Given the description of an element on the screen output the (x, y) to click on. 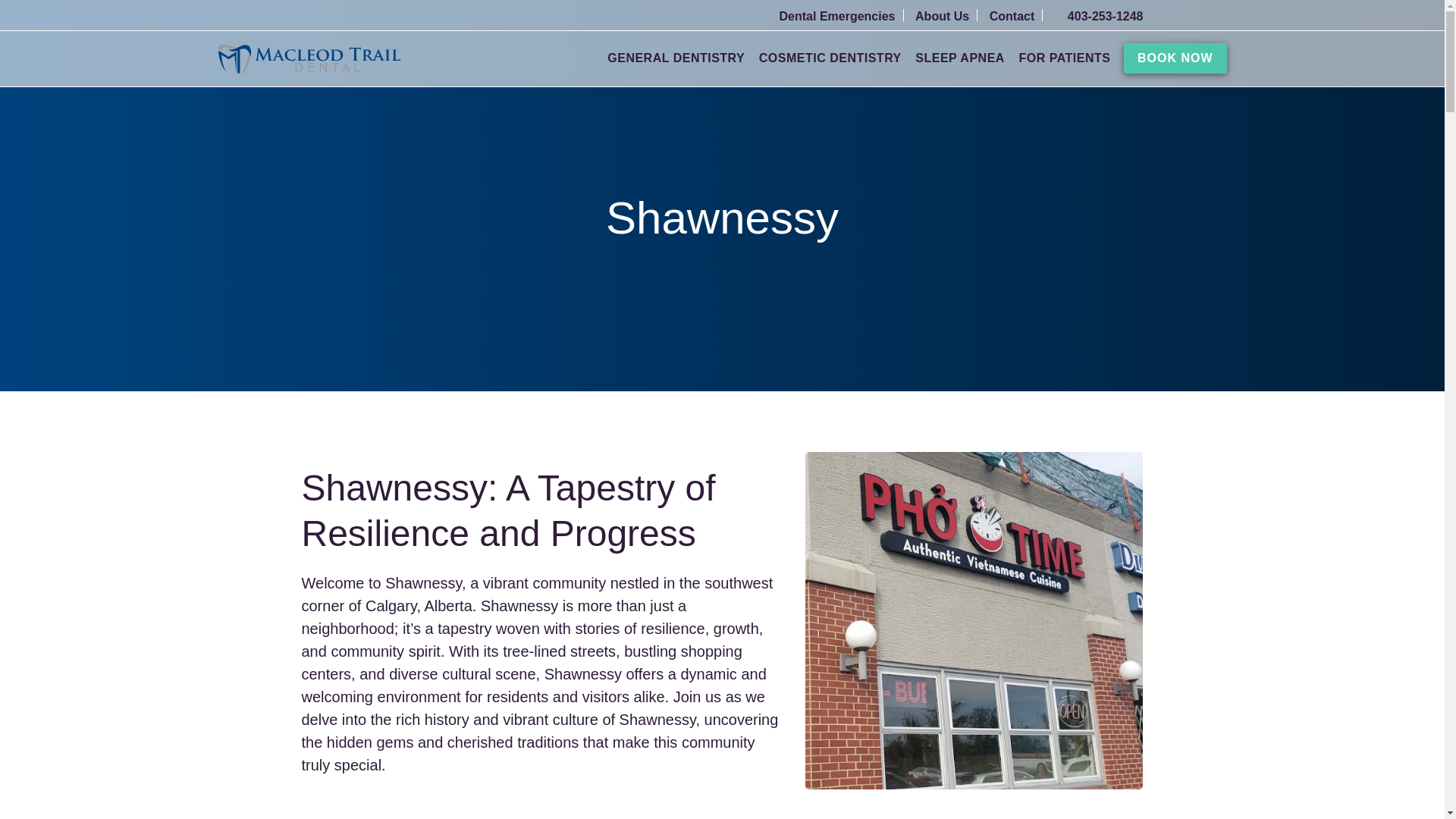
About Us (945, 16)
GENERAL DENTISTRY (675, 67)
Dental Emergencies (841, 16)
403-253-1248 (1098, 16)
SLEEP APNEA (959, 57)
Macleod Trail Dental (309, 58)
FOR PATIENTS (1063, 67)
Contact (1016, 16)
COSMETIC DENTISTRY (829, 67)
